Given the description of an element on the screen output the (x, y) to click on. 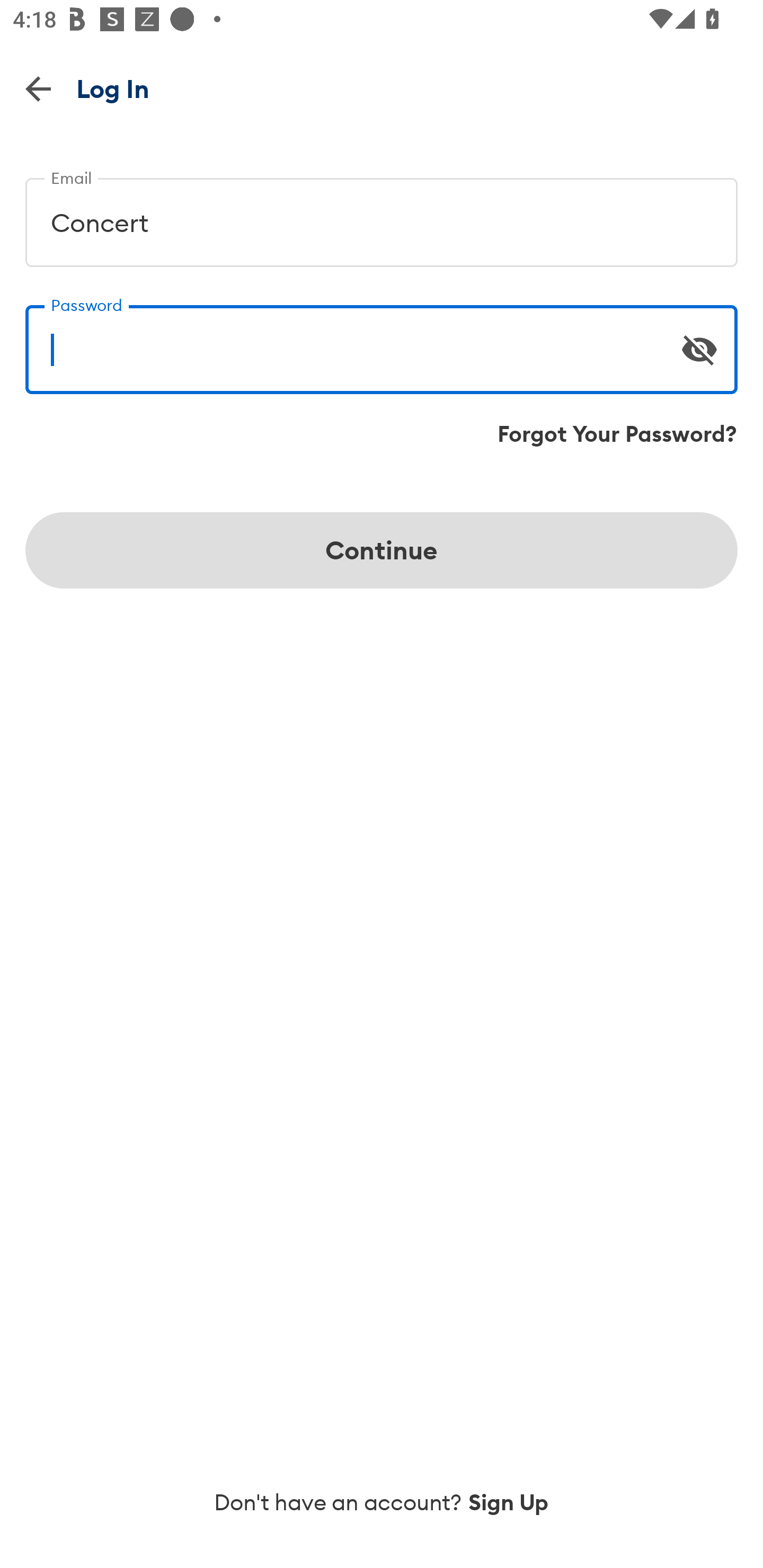
Back (38, 88)
Concert Email (381, 215)
Password (381, 342)
Forgot Your Password? (617, 433)
Continue (381, 550)
Sign Up (508, 1502)
